Given the description of an element on the screen output the (x, y) to click on. 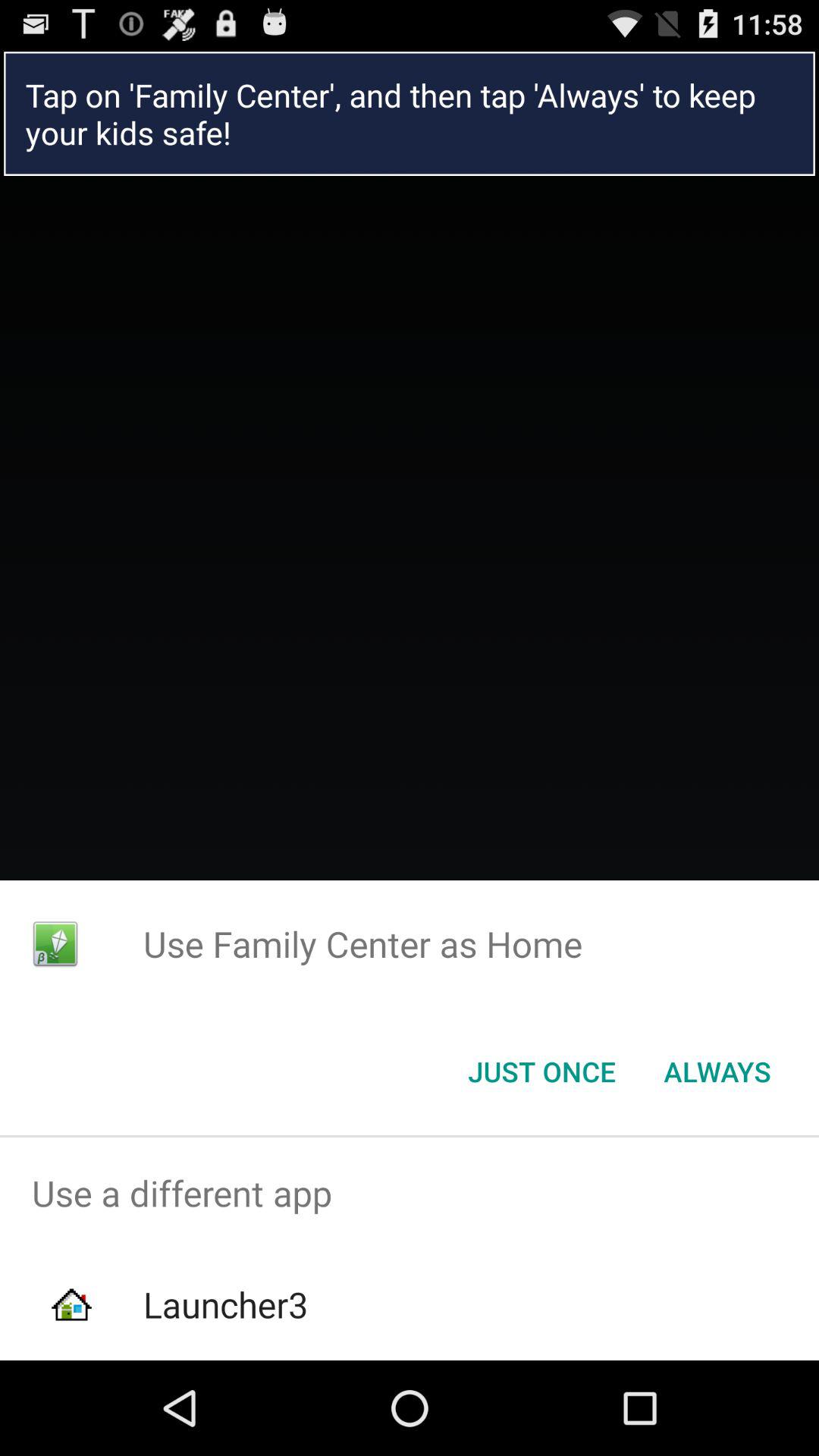
press the launcher3 (225, 1304)
